Given the description of an element on the screen output the (x, y) to click on. 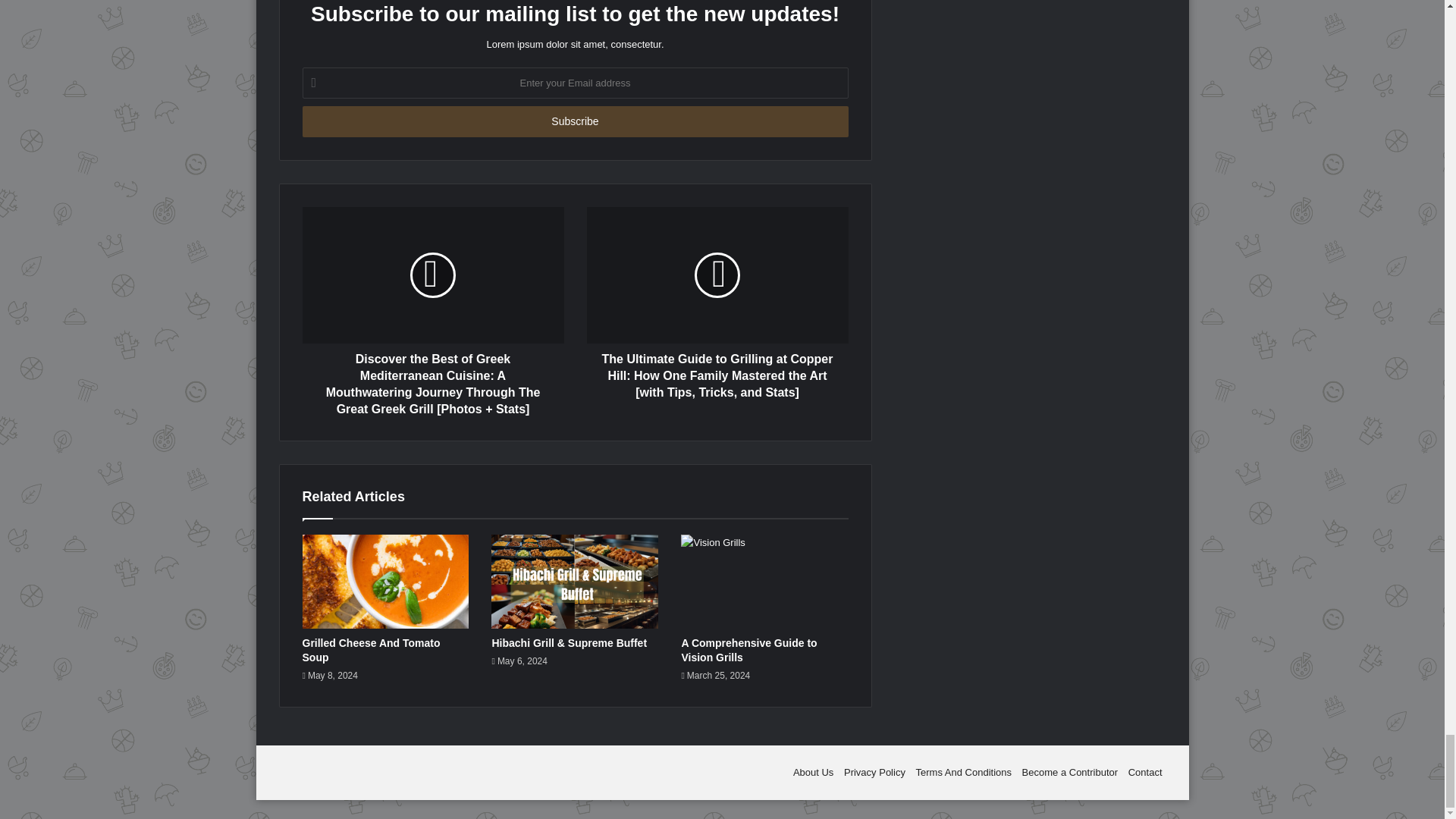
Subscribe (574, 121)
A Comprehensive Guide to Vision Grills 4 (764, 581)
Grilled Cheese And Tomato Soup 2 (384, 581)
